Given the description of an element on the screen output the (x, y) to click on. 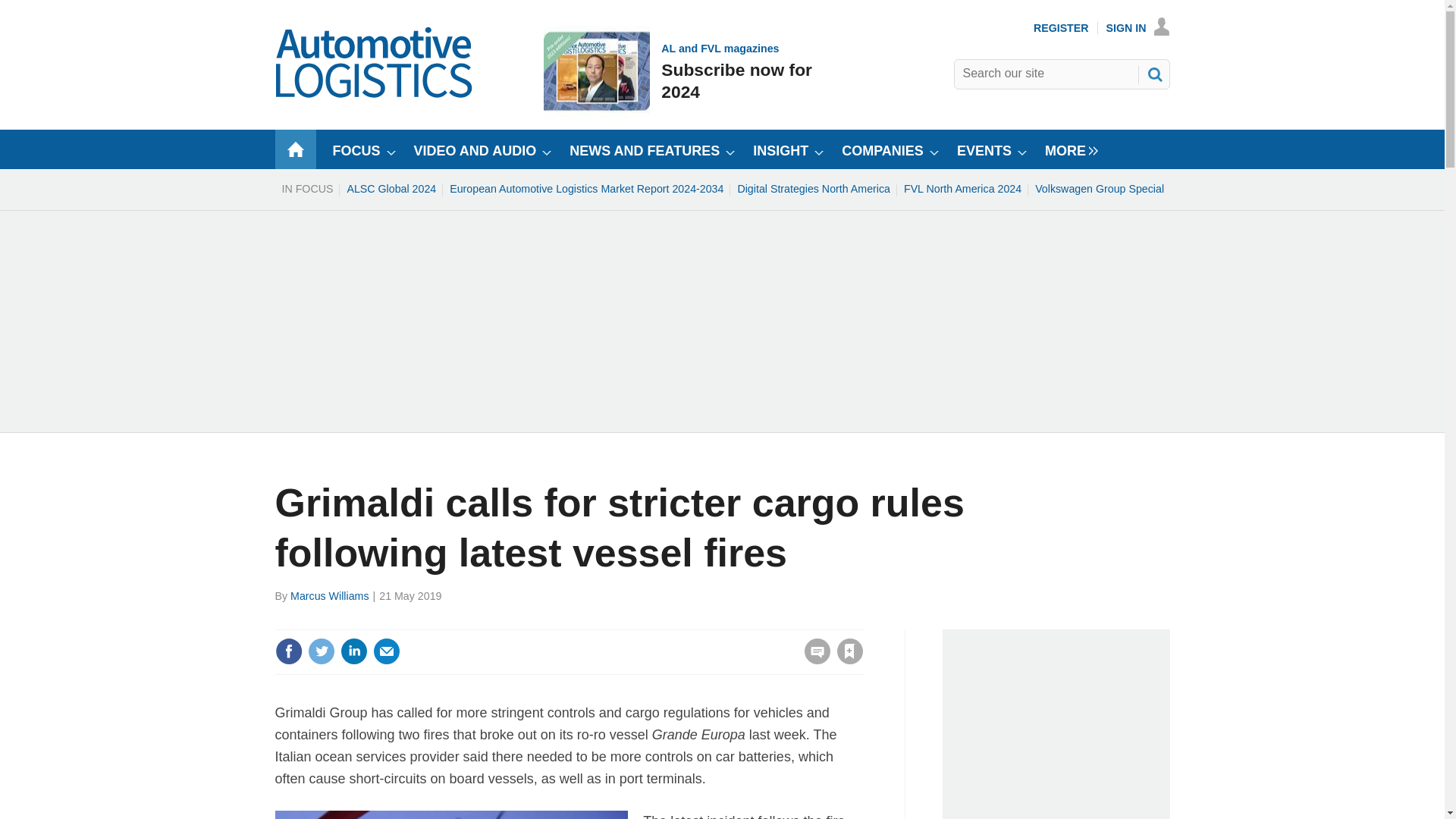
Email this article (386, 651)
Share this on Twitter (320, 651)
Volkswagen Group Special (1098, 188)
Digital Strategies North America (813, 188)
Automotive Logistics (375, 94)
No comments (812, 660)
FVL North America 2024 (961, 188)
Share this on Facebook (288, 651)
ALSC Global 2024 (390, 188)
SEARCH (1153, 74)
